Given the description of an element on the screen output the (x, y) to click on. 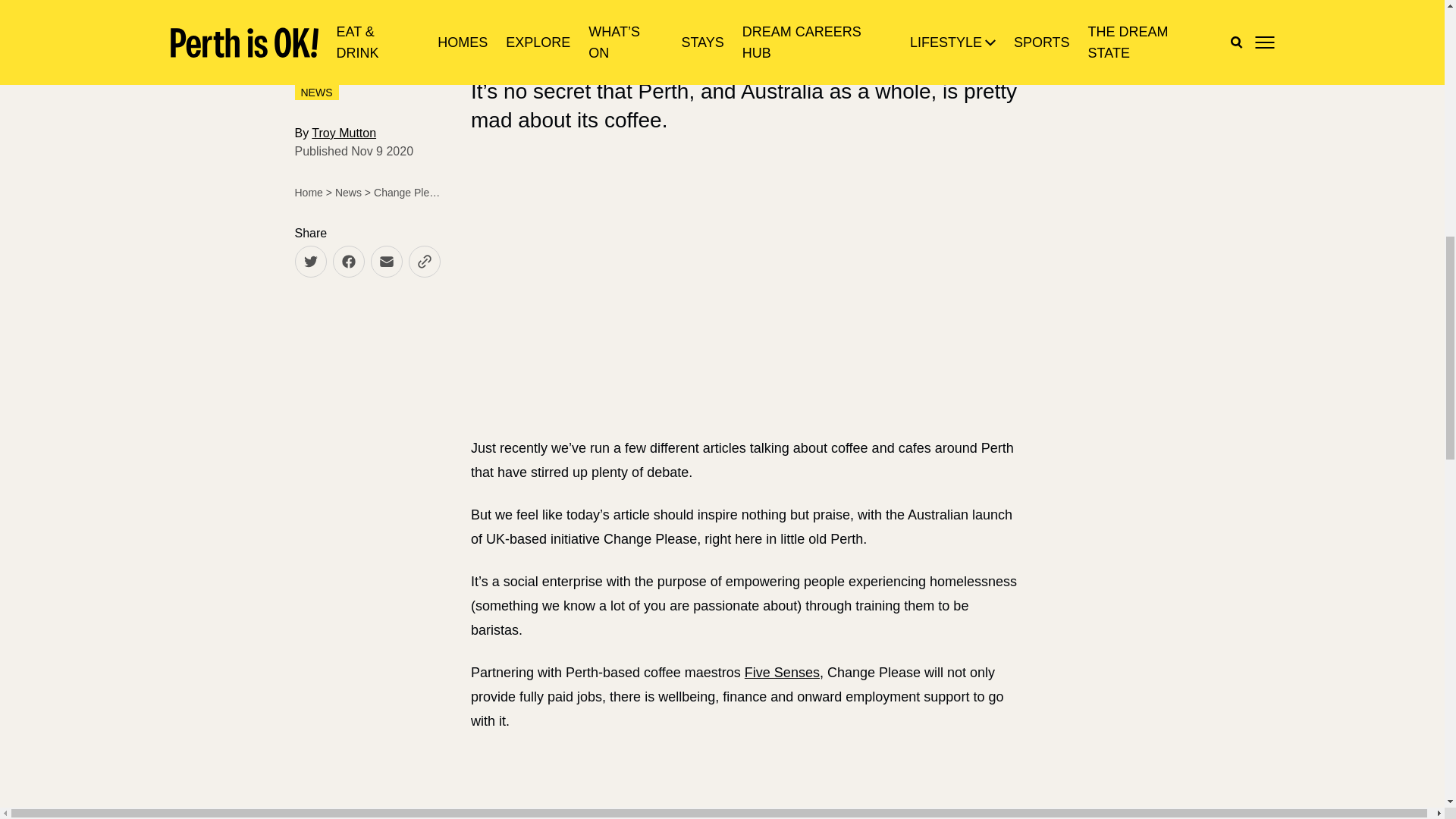
NEWS (315, 92)
News (347, 192)
Troy Mutton (343, 132)
Copy URL (423, 261)
Home (307, 192)
Five Senses, (783, 672)
